Given the description of an element on the screen output the (x, y) to click on. 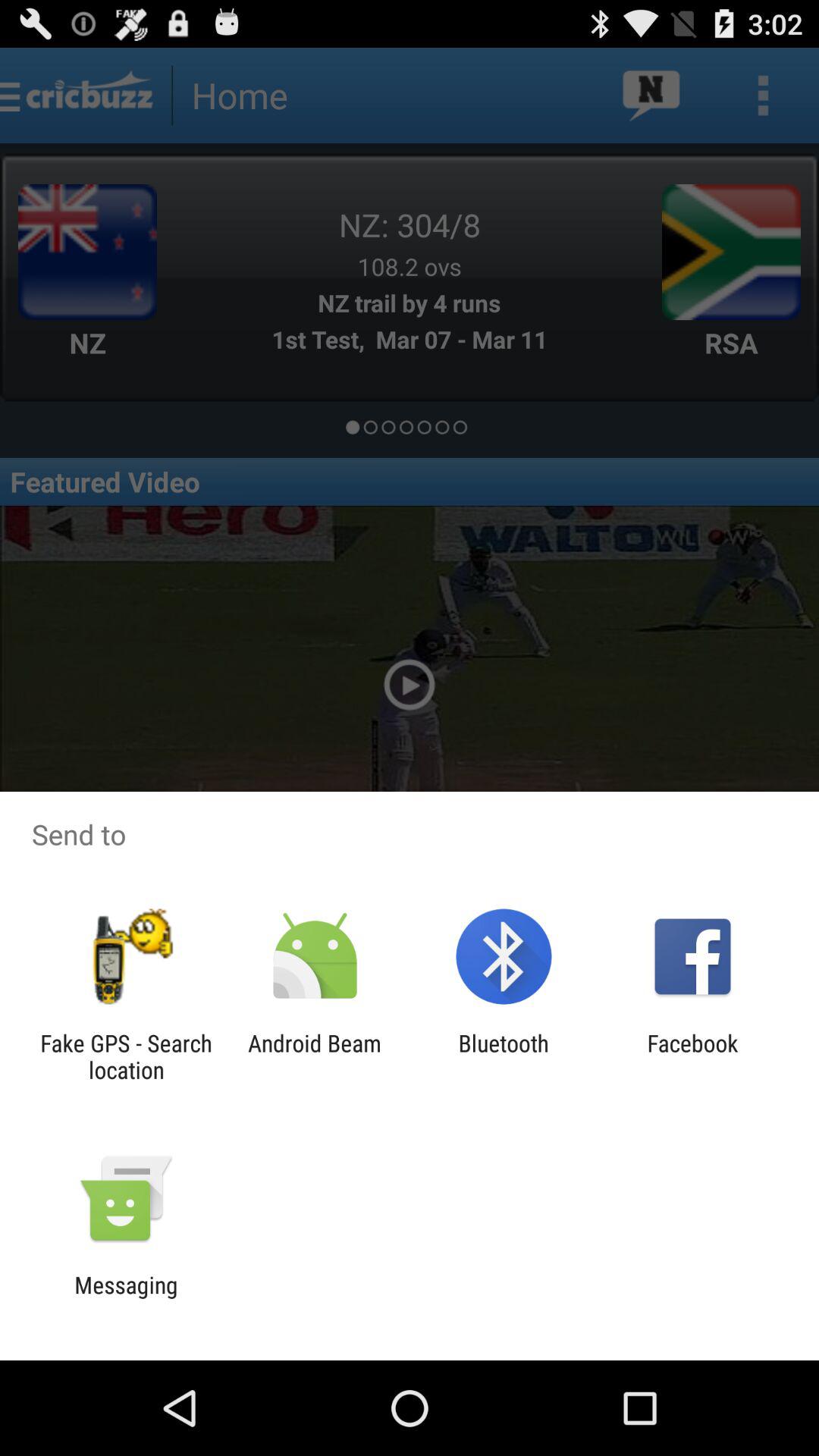
tap the app to the left of bluetooth icon (314, 1056)
